Given the description of an element on the screen output the (x, y) to click on. 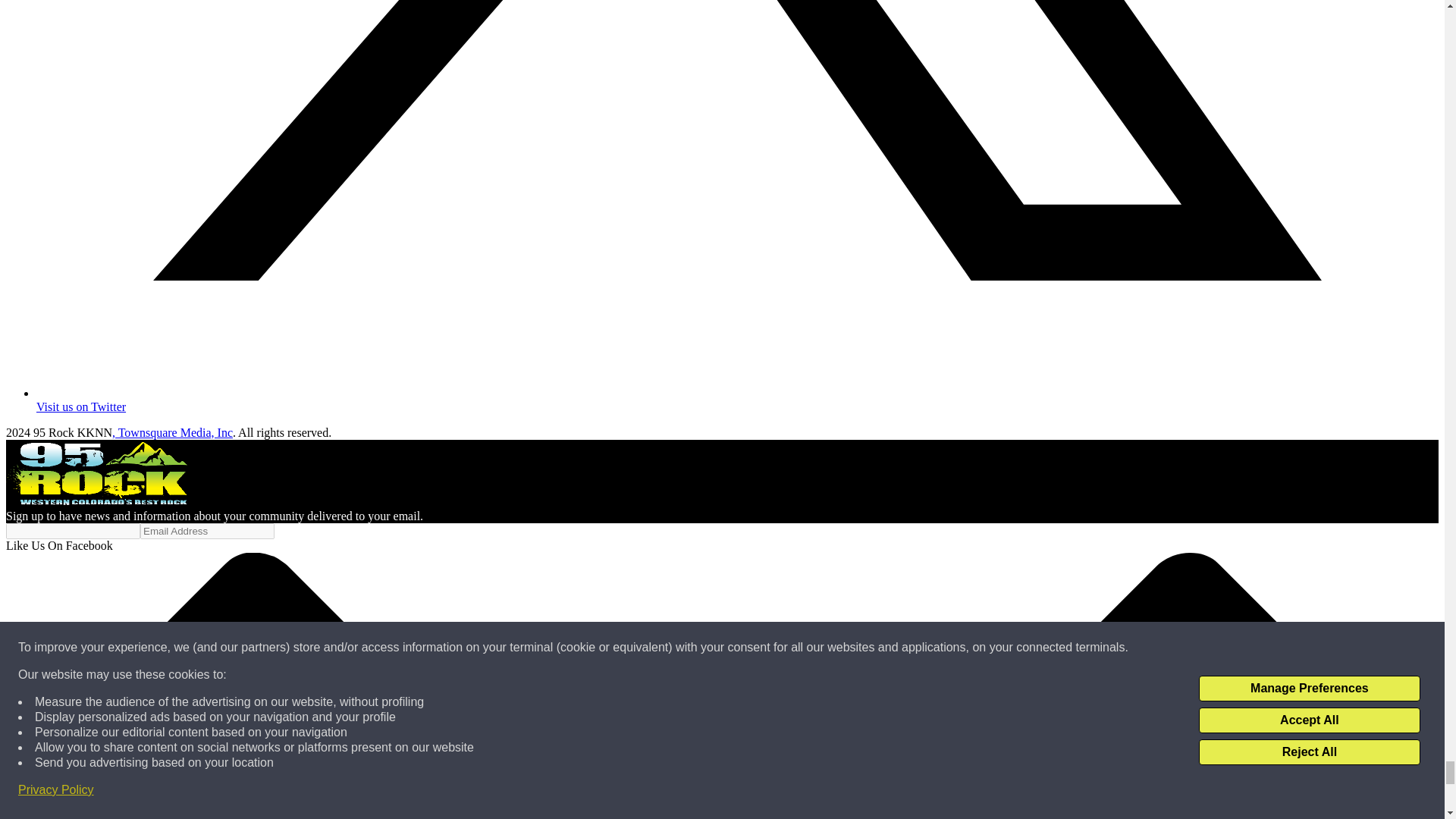
Email Address (207, 530)
